Given the description of an element on the screen output the (x, y) to click on. 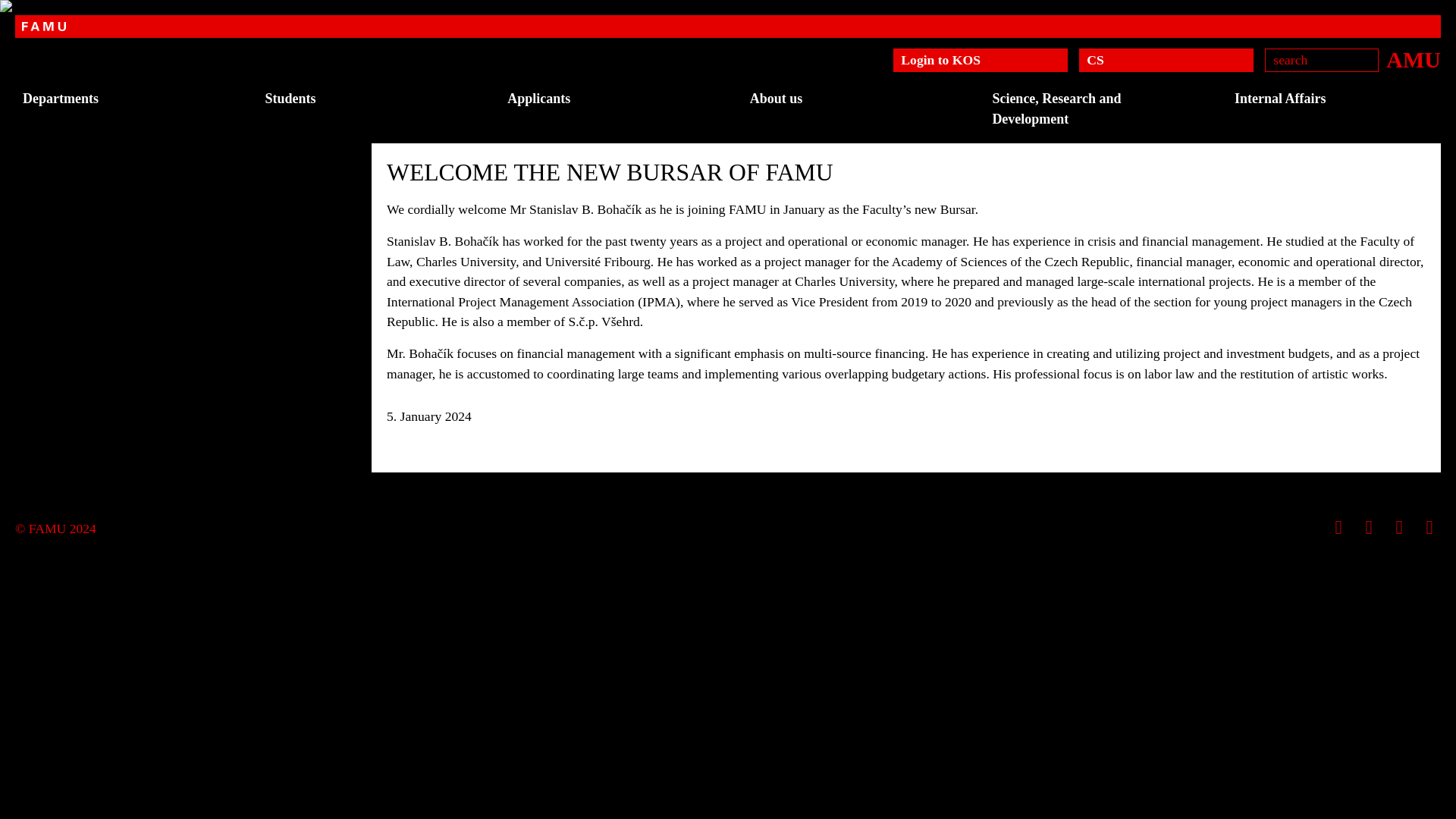
AMU (1413, 60)
Login to KOS (980, 60)
CS (1165, 60)
